Given the description of an element on the screen output the (x, y) to click on. 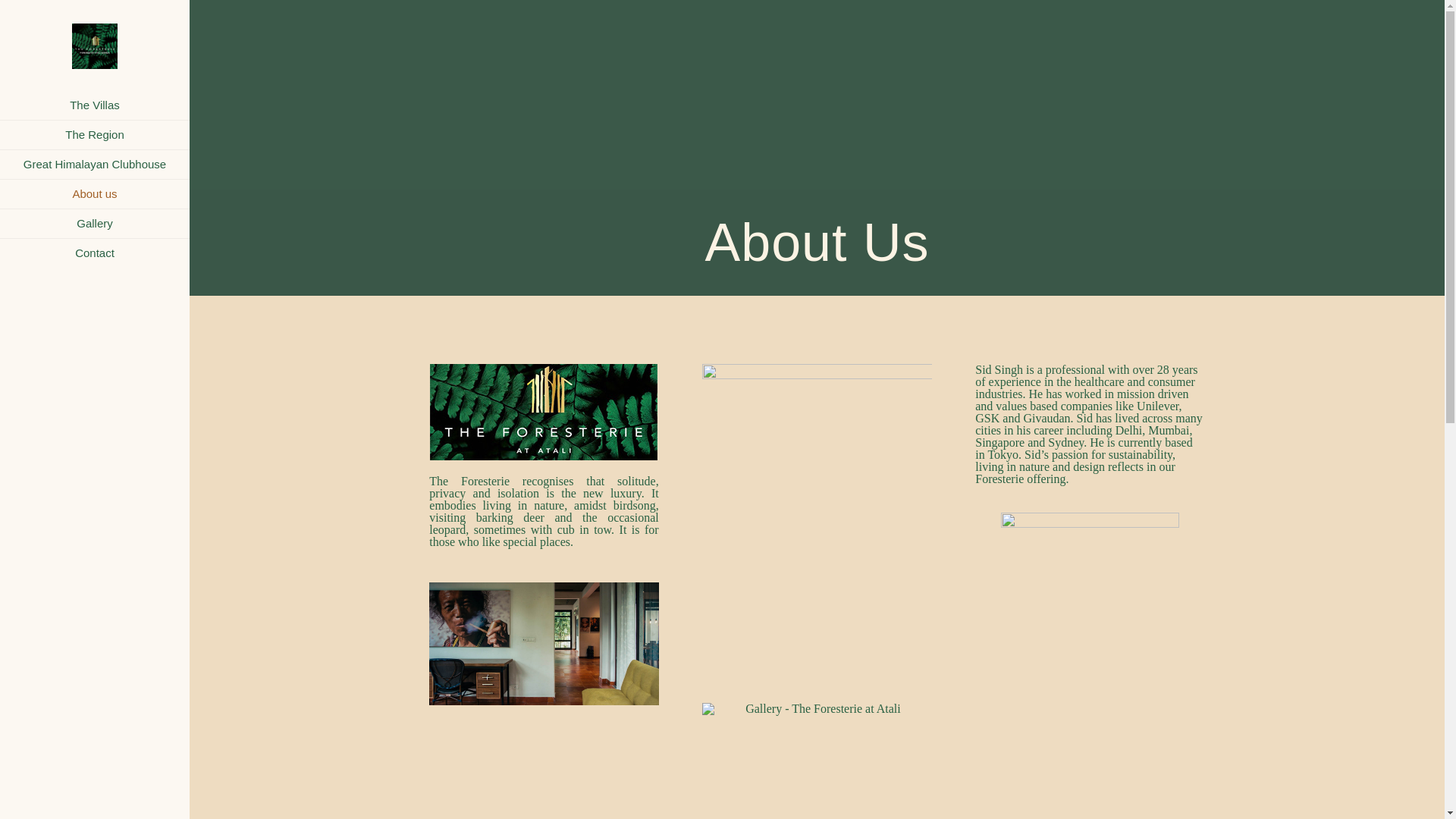
Gallery (94, 224)
The Foresterie At Atali (94, 45)
The Villas (94, 105)
About us (94, 194)
Contact (94, 253)
The Region (94, 134)
Great Himalayan Clubhouse (94, 164)
